Given the description of an element on the screen output the (x, y) to click on. 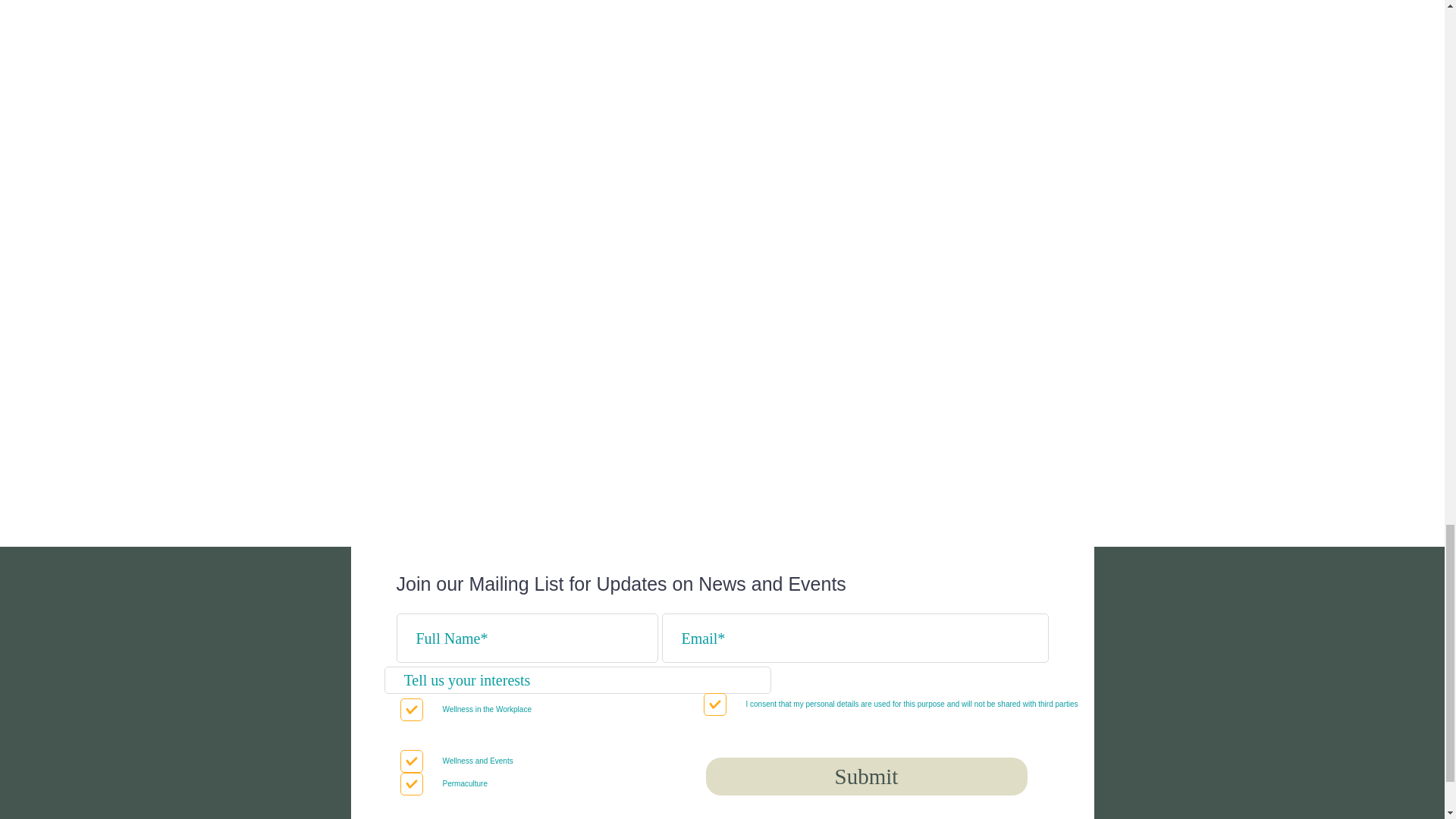
Submit (865, 776)
